Given the description of an element on the screen output the (x, y) to click on. 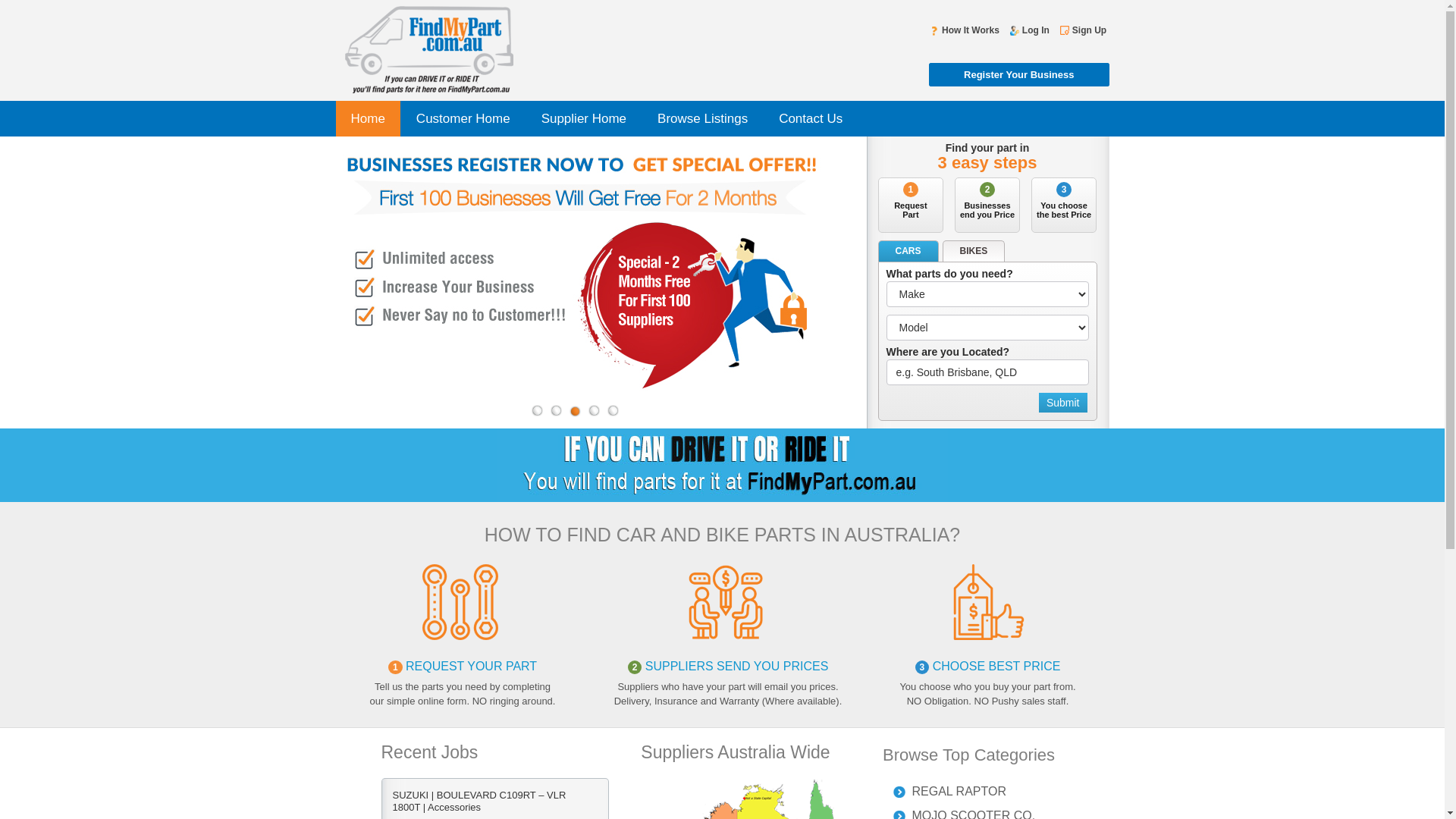
Home Element type: text (367, 118)
SUPPLIERS SEND YOU PRICES Element type: text (734, 665)
BIKES Element type: text (974, 250)
CHOOSE BEST PRICE Element type: text (996, 665)
REQUEST YOUR PART Element type: text (469, 665)
3 Element type: text (575, 410)
Supplier Home Element type: text (583, 118)
CARS Element type: text (907, 250)
Contact Us Element type: text (810, 118)
Customer Home Element type: text (463, 118)
Browse Listings Element type: text (702, 118)
REGAL RAPTOR Element type: text (987, 791)
1 Element type: text (537, 410)
Register Your Business Element type: text (1018, 74)
4 Element type: text (593, 410)
5 Element type: text (613, 410)
2 Element type: text (555, 410)
Submit Element type: text (1062, 402)
